Given the description of an element on the screen output the (x, y) to click on. 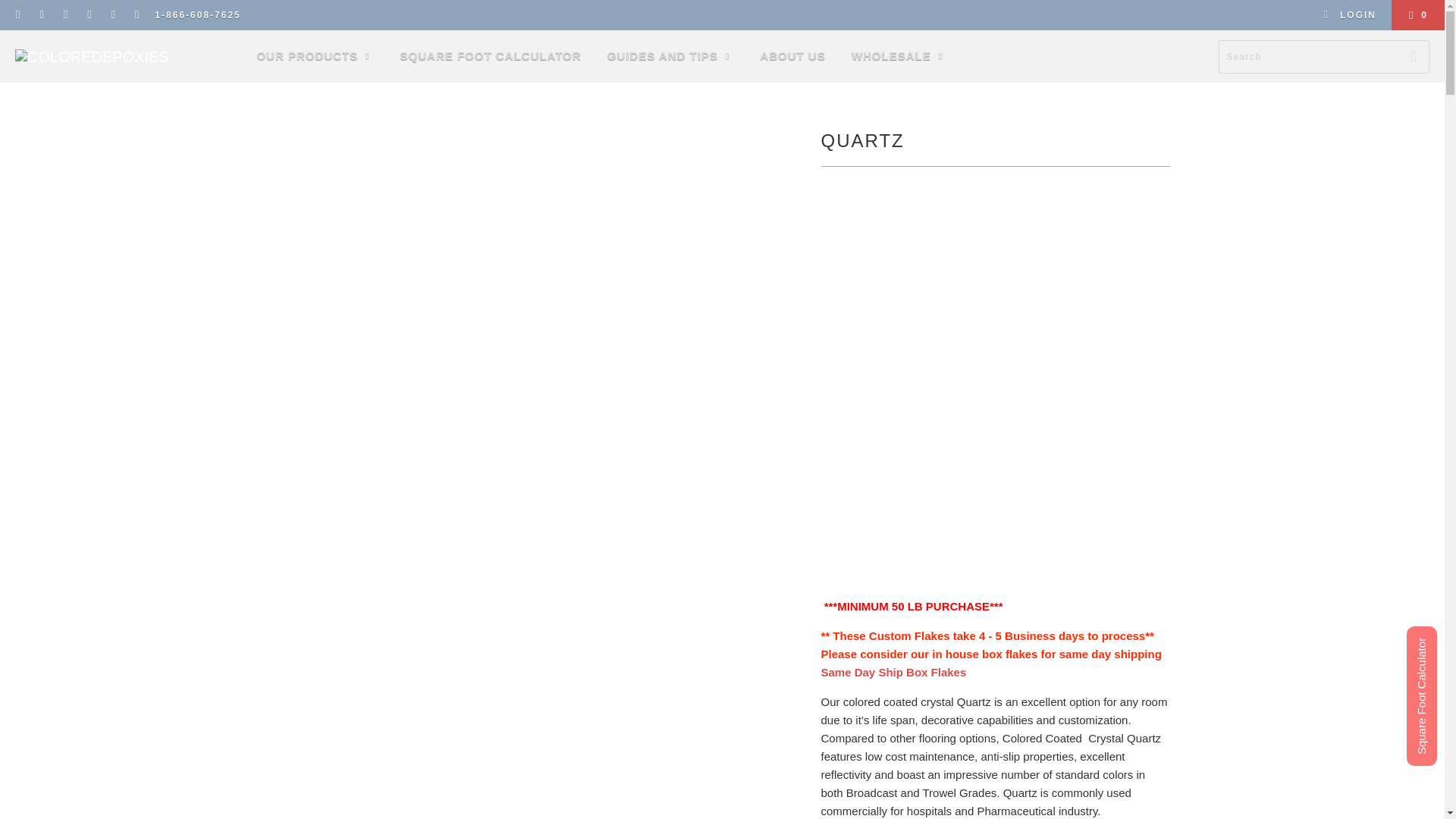
Coloredepoxies  on Facebook (41, 14)
Coloredepoxies  on Pinterest (89, 14)
Coloredepoxies  on Instagram (112, 14)
Coloredepoxies  on Houzz (136, 14)
Coloredepoxies  on YouTube (65, 14)
Coloredepoxies  (91, 55)
My Account  (1349, 15)
Coloredepoxies  on Twitter (17, 14)
